Given the description of an element on the screen output the (x, y) to click on. 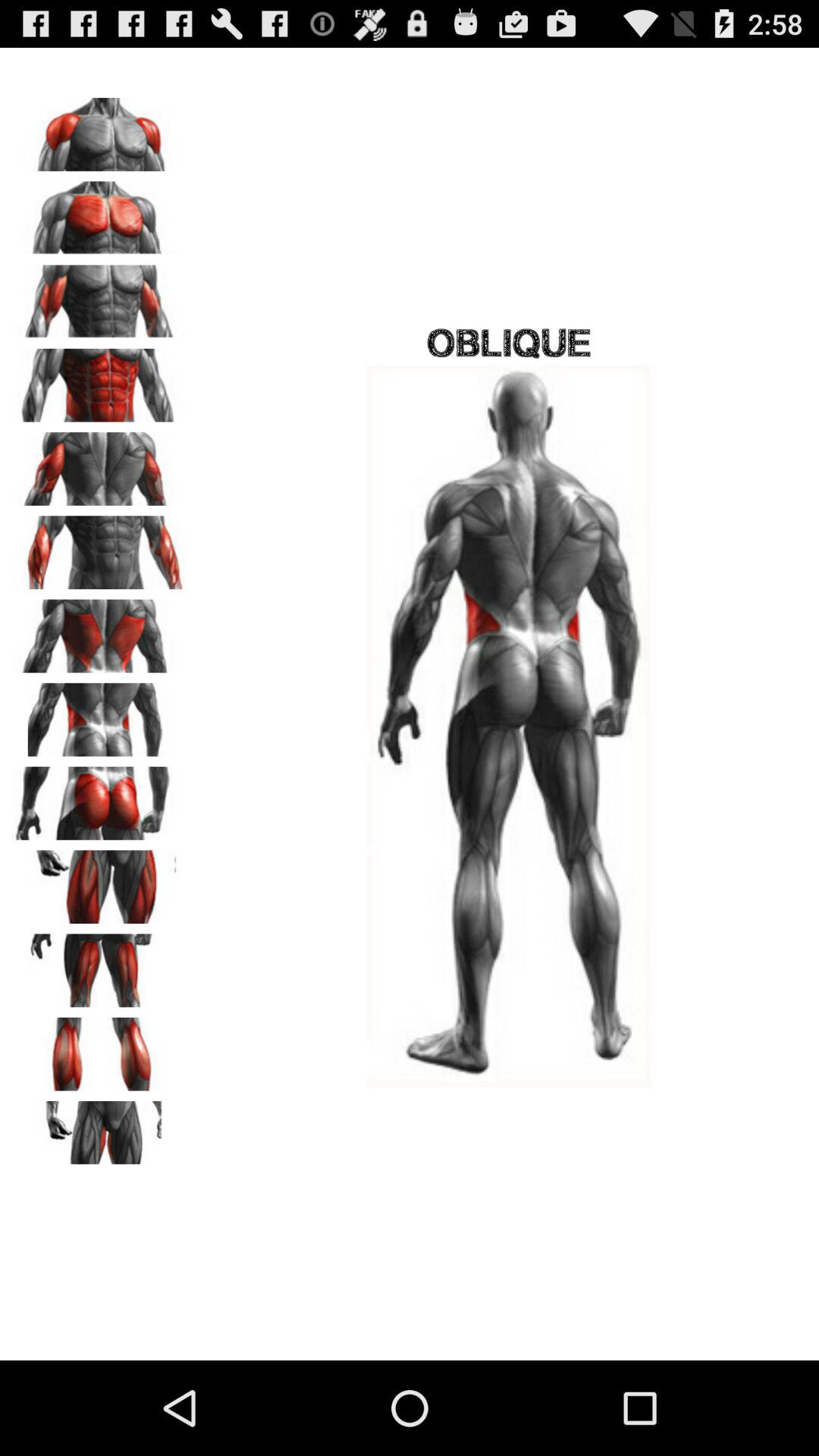
view shoulders (99, 129)
